Given the description of an element on the screen output the (x, y) to click on. 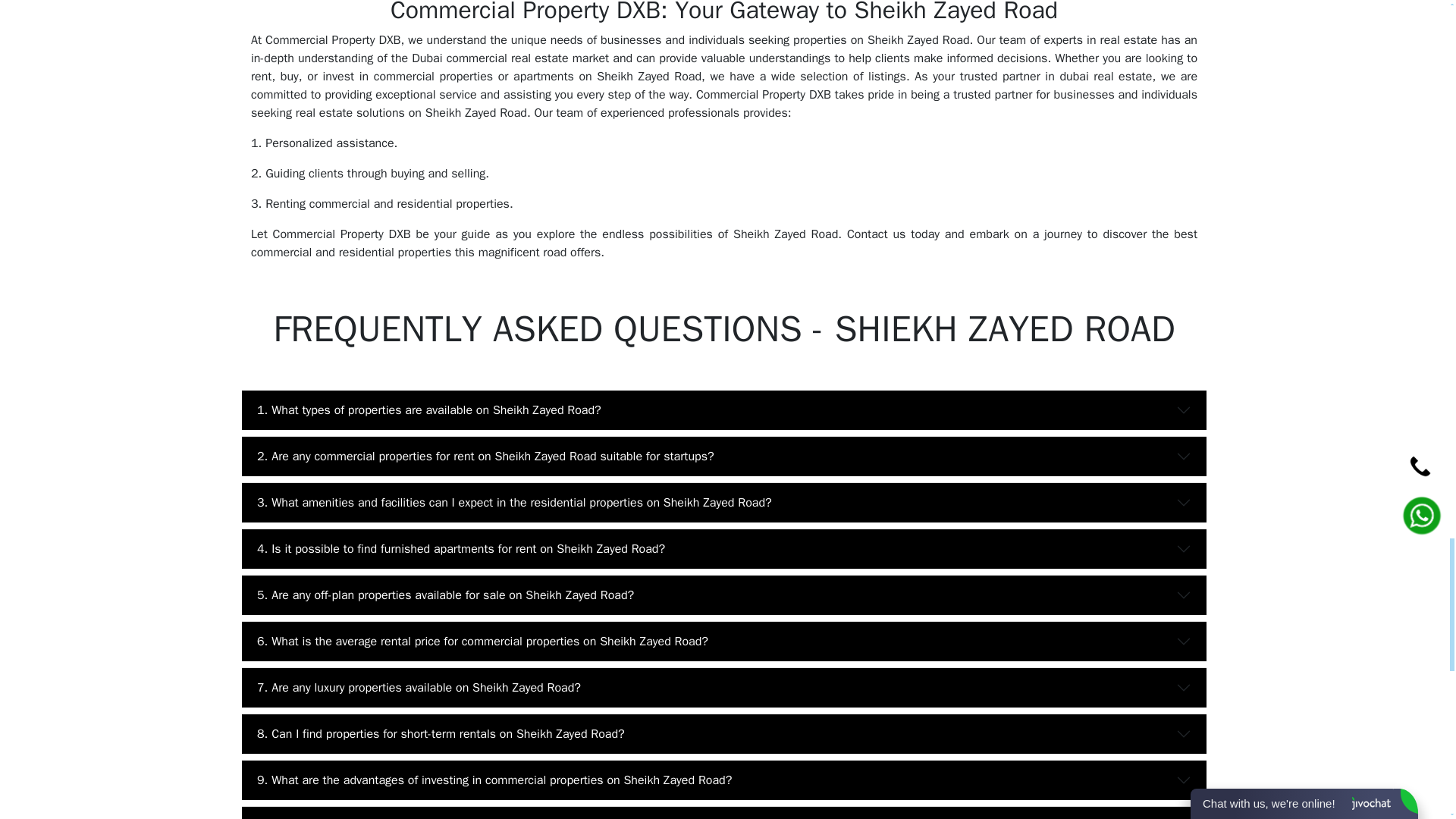
7. Are any luxury properties available on Sheikh Zayed Road? (724, 687)
